Given the description of an element on the screen output the (x, y) to click on. 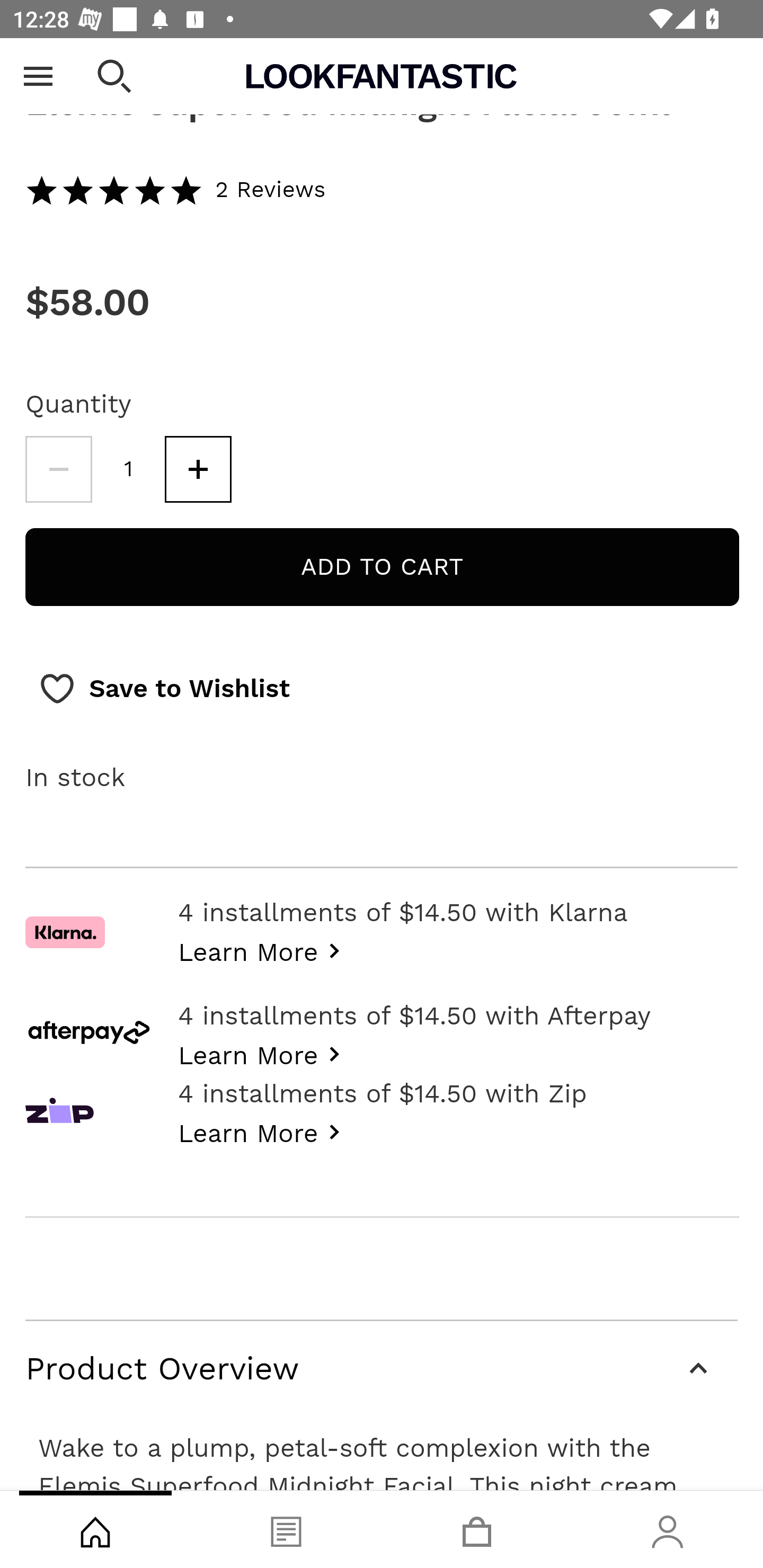
Decrease quantity (58, 470)
1, Quantity (128, 470)
Increase quantity (197, 470)
Add to cart (382, 568)
Save to Wishlist (164, 690)
Learn More about klarna_slice (263, 950)
Learn More about afterpay (263, 1054)
Learn More about quadpay (263, 1131)
Product Overview (381, 1370)
Shop, tab, 1 of 4 (95, 1529)
Blog, tab, 2 of 4 (285, 1529)
Basket, tab, 3 of 4 (476, 1529)
Account, tab, 4 of 4 (667, 1529)
